Given the description of an element on the screen output the (x, y) to click on. 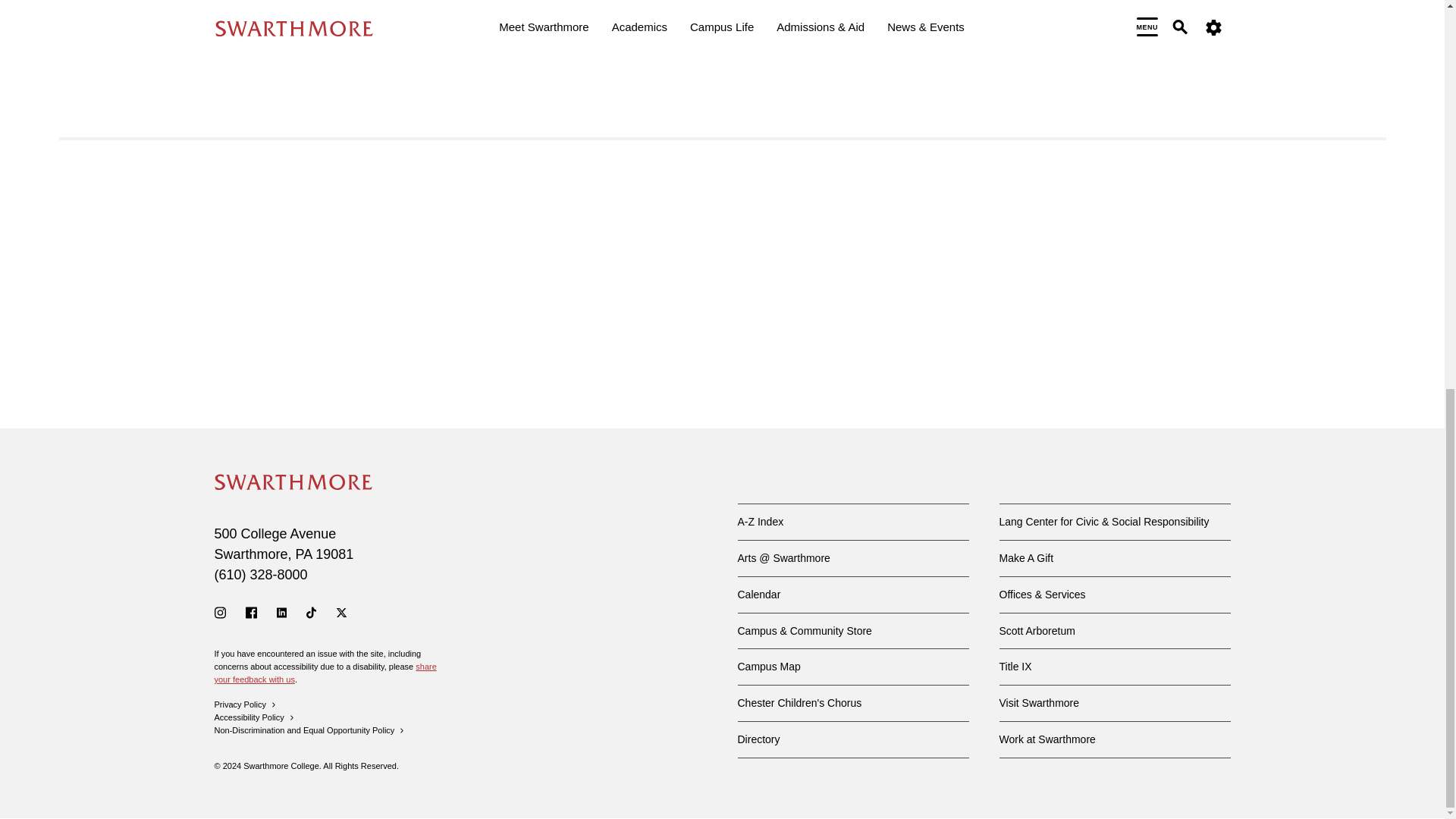
Swarthmore College - Home (292, 482)
Opens Email Program (763, 49)
Facebook (251, 612)
Instagram (219, 612)
Opens Email Program (716, 28)
Pennsylvania (304, 554)
